Given the description of an element on the screen output the (x, y) to click on. 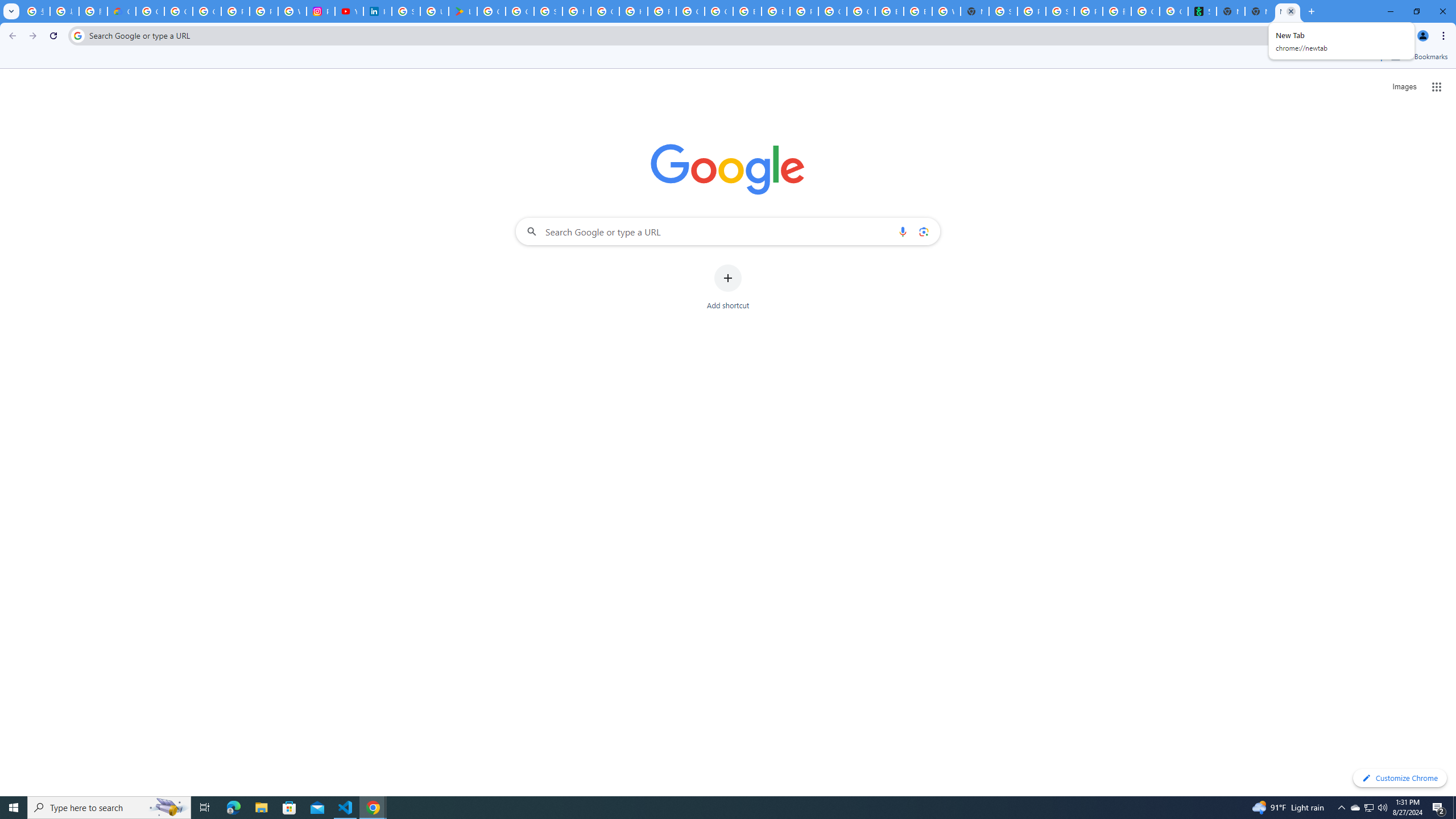
New Tab (1259, 11)
Last Shelter: Survival - Apps on Google Play (462, 11)
Search by voice (902, 230)
Minimize (1390, 11)
New Tab (1311, 11)
Chrome (1445, 35)
How do I create a new Google Account? - Google Account Help (633, 11)
Search tabs (10, 11)
Close (1290, 11)
Restore (1416, 11)
